Given the description of an element on the screen output the (x, y) to click on. 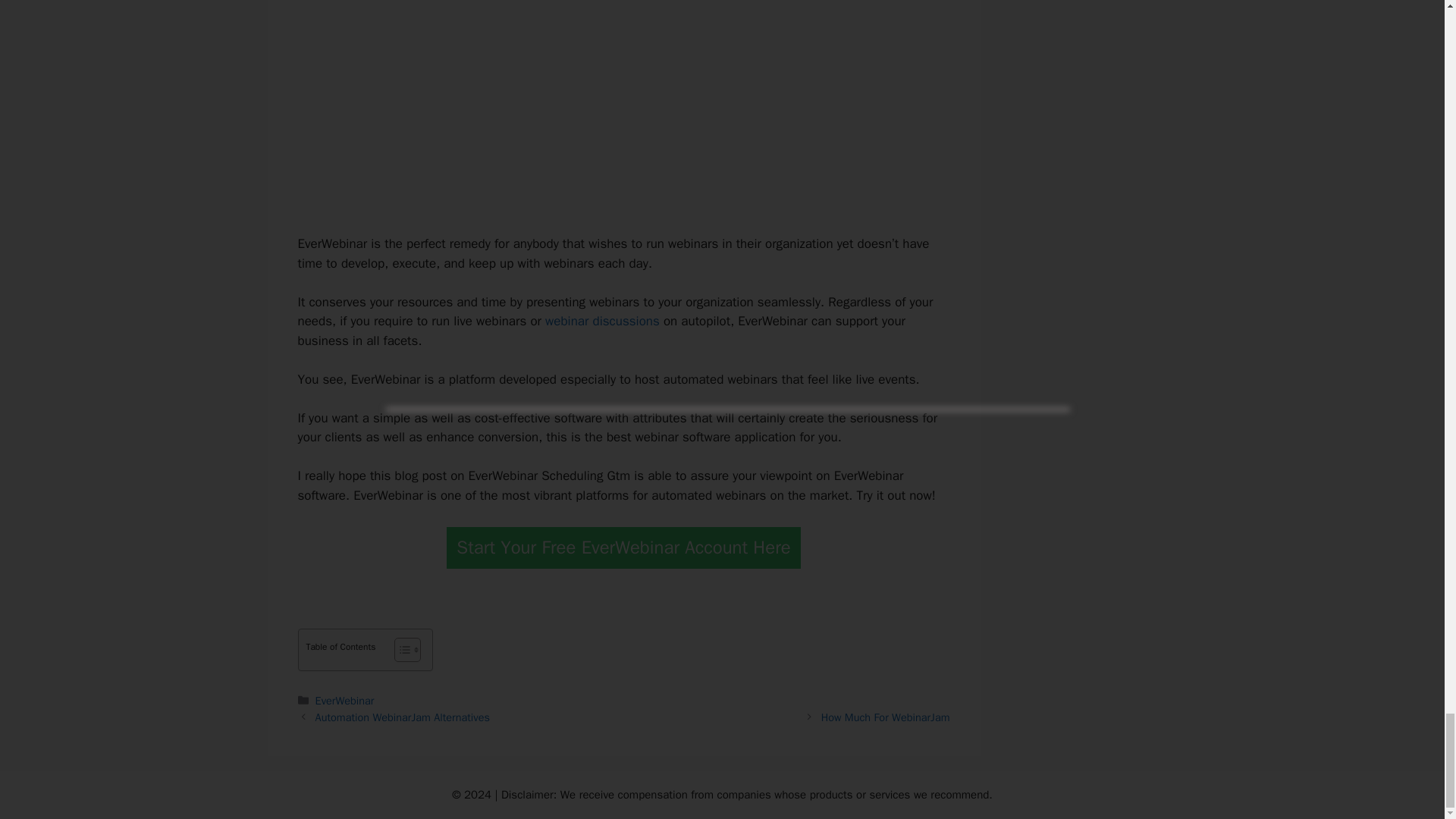
How Much For WebinarJam (885, 716)
webinar discussions (601, 320)
Start Your Free EverWebinar Account Here (622, 547)
Automation WebinarJam Alternatives (402, 716)
EverWebinar (344, 700)
